Given the description of an element on the screen output the (x, y) to click on. 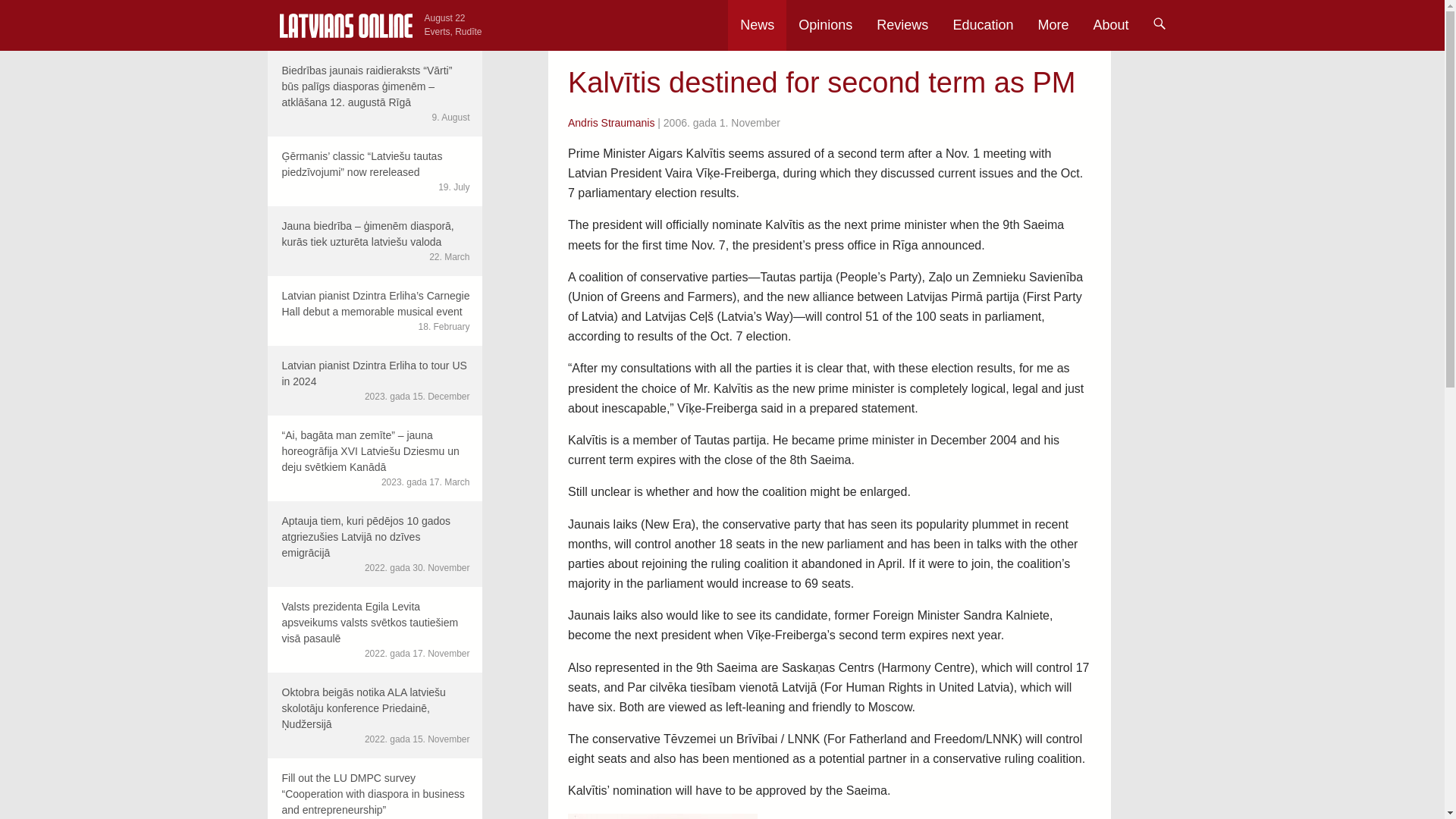
Reviews (902, 25)
About (1110, 25)
Education (982, 25)
Opinions (825, 25)
More (1052, 25)
News (757, 25)
